Given the description of an element on the screen output the (x, y) to click on. 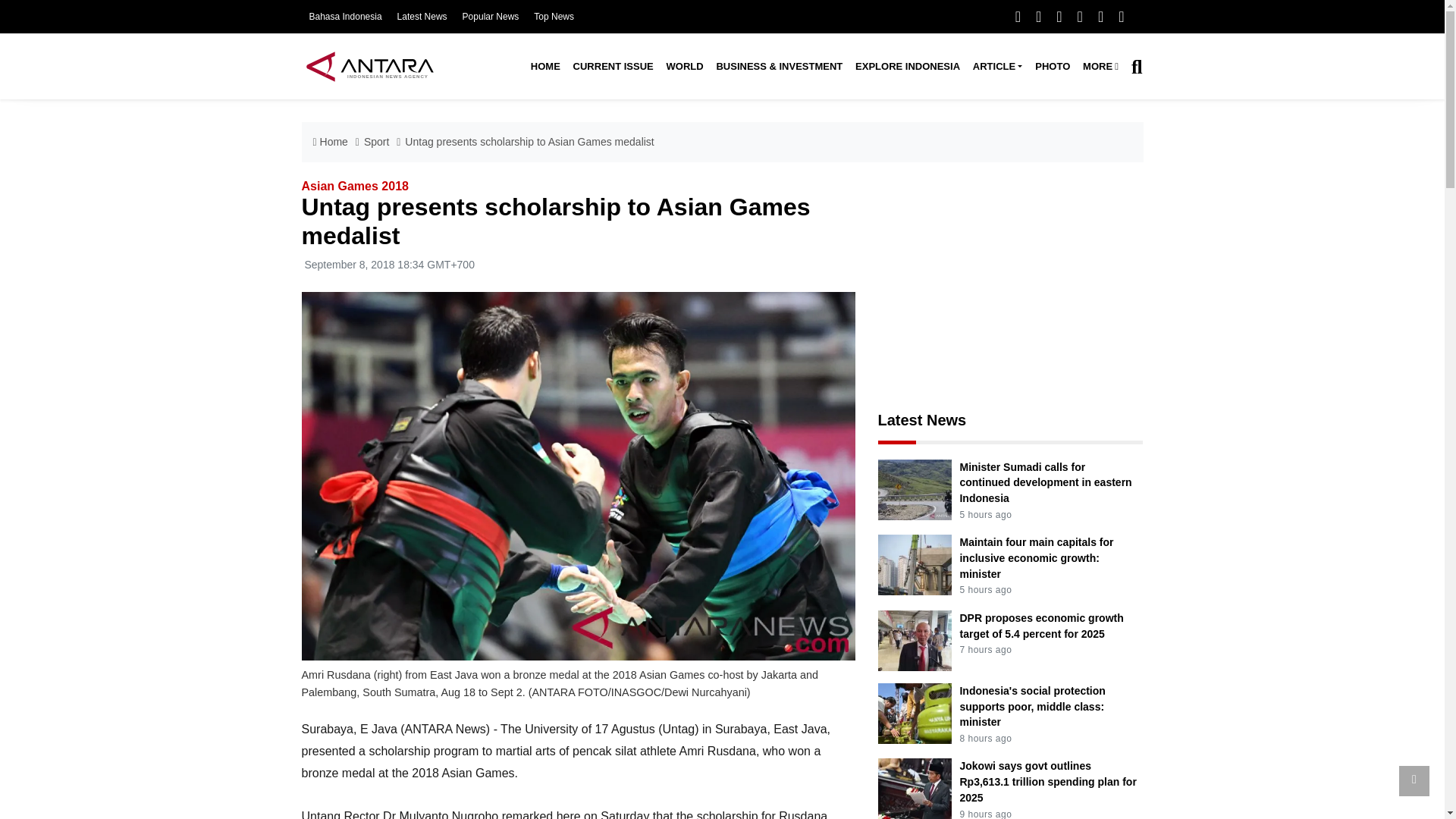
Bahasa Indonesia (344, 16)
Latest News (421, 16)
Popular News (491, 16)
CURRENT ISSUE (612, 66)
Latest News (421, 16)
Popular News (491, 16)
ANTARA News (369, 66)
ARTICLE (996, 66)
Bahasa Indonesia (344, 16)
